Given the description of an element on the screen output the (x, y) to click on. 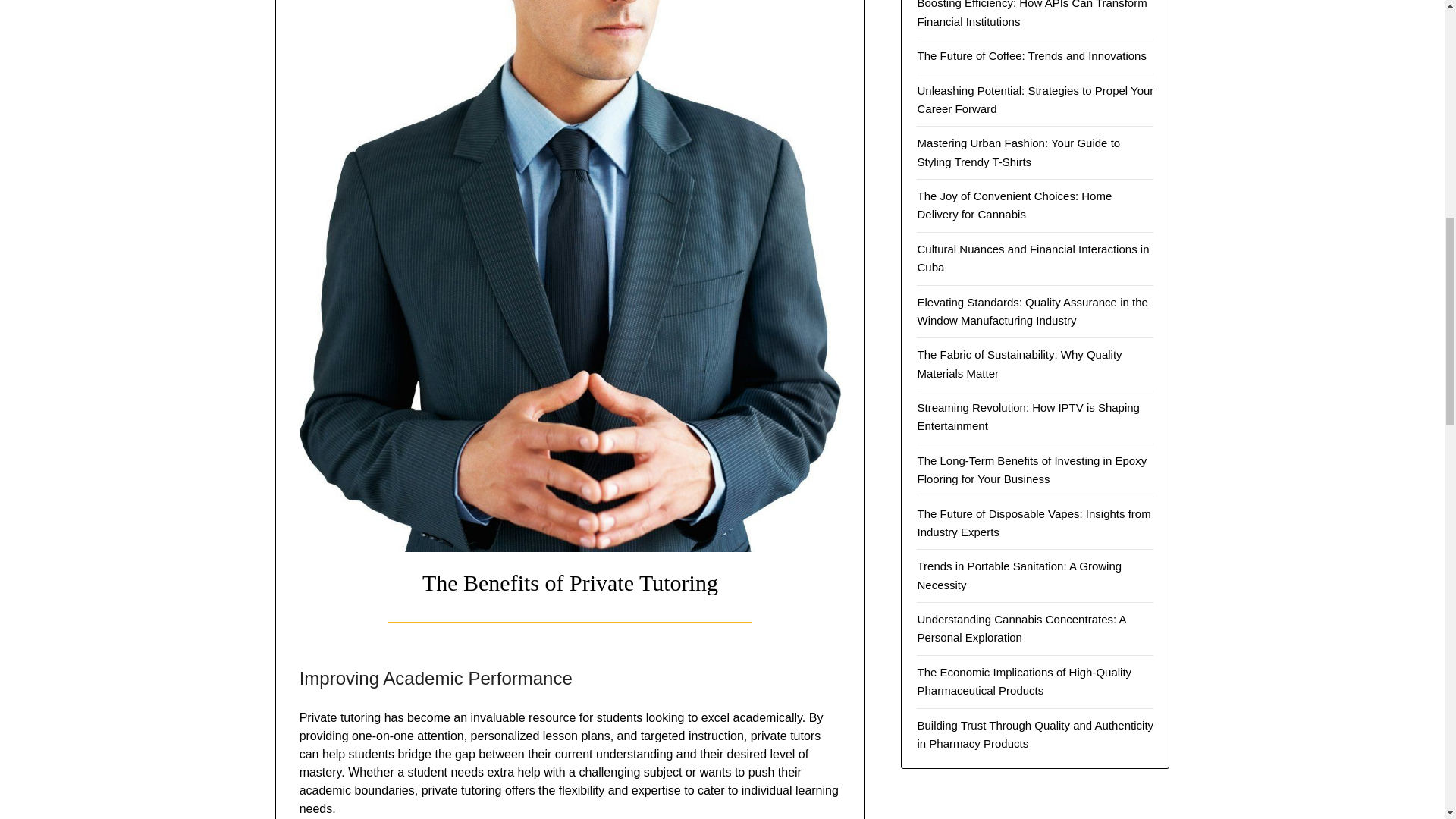
Cultural Nuances and Financial Interactions in Cuba (1032, 257)
The Fabric of Sustainability: Why Quality Materials Matter (1019, 363)
Understanding Cannabis Concentrates: A Personal Exploration (1021, 627)
The Joy of Convenient Choices: Home Delivery for Cannabis (1014, 204)
The Future of Coffee: Trends and Innovations (1031, 55)
